Given the description of an element on the screen output the (x, y) to click on. 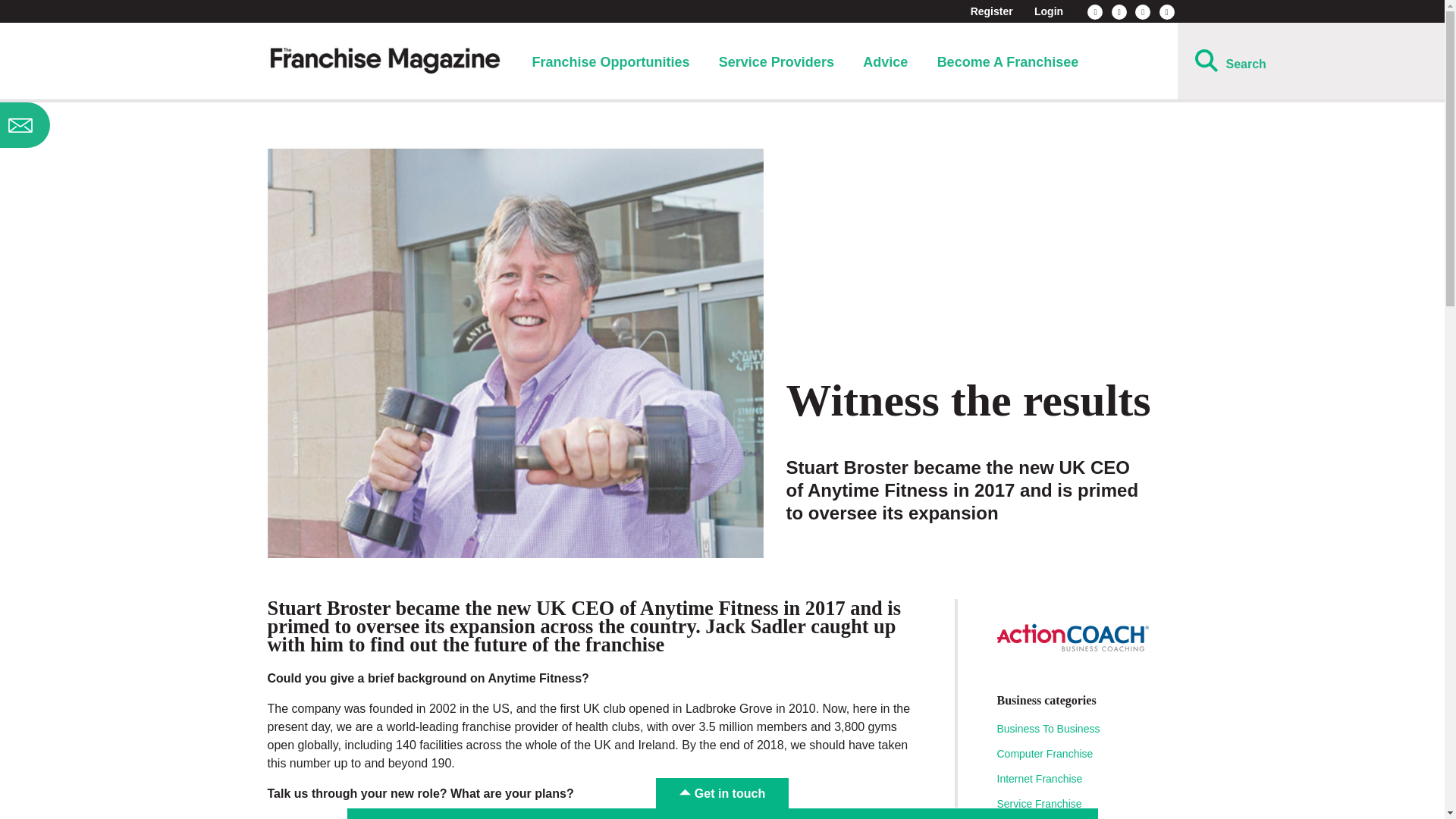
Become A Franchisee (1007, 61)
Service Providers (776, 61)
Login (1047, 10)
Service Providers (776, 61)
SignupModal (120, 125)
Advice (885, 61)
Login (1047, 10)
Franchise Opportunities (609, 61)
Sign up to the newsletter (120, 125)
Register (992, 10)
